Given the description of an element on the screen output the (x, y) to click on. 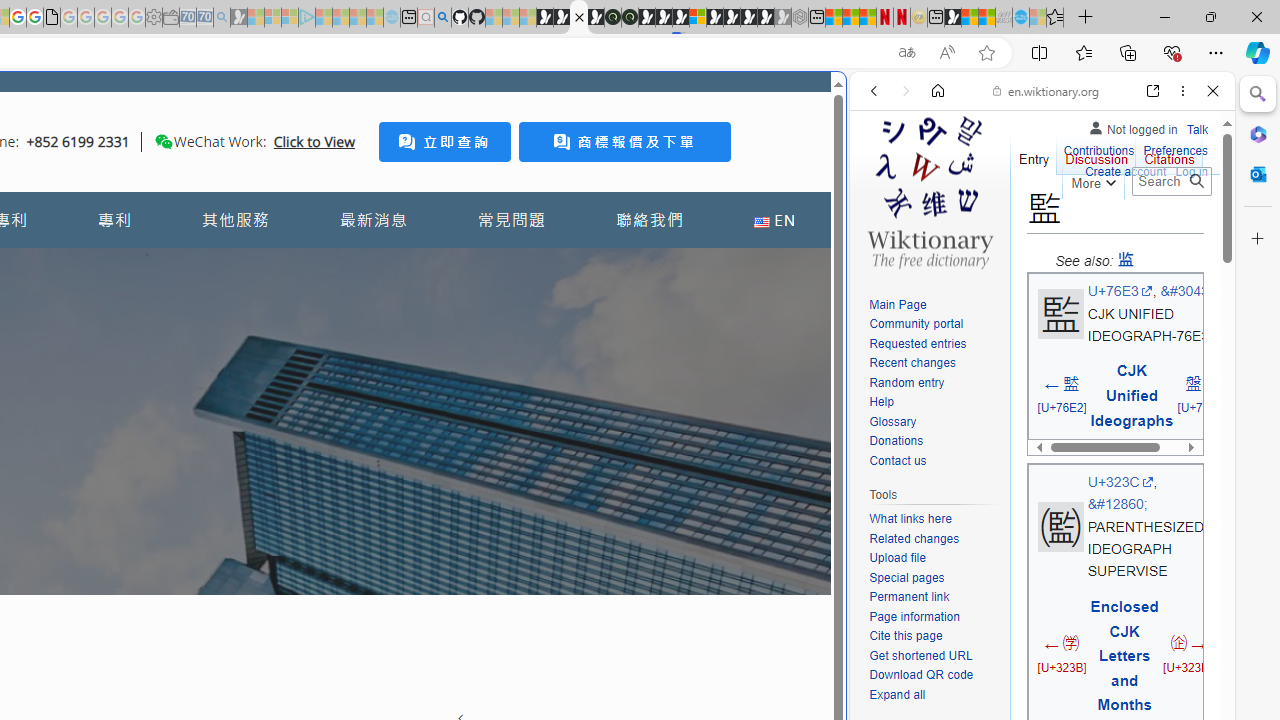
Community portal (916, 323)
Expand all (897, 694)
Create account (1125, 172)
Wiktionary (1034, 669)
Frequently visited (418, 265)
Search or enter web address (343, 191)
Related changes (914, 538)
